Given the description of an element on the screen output the (x, y) to click on. 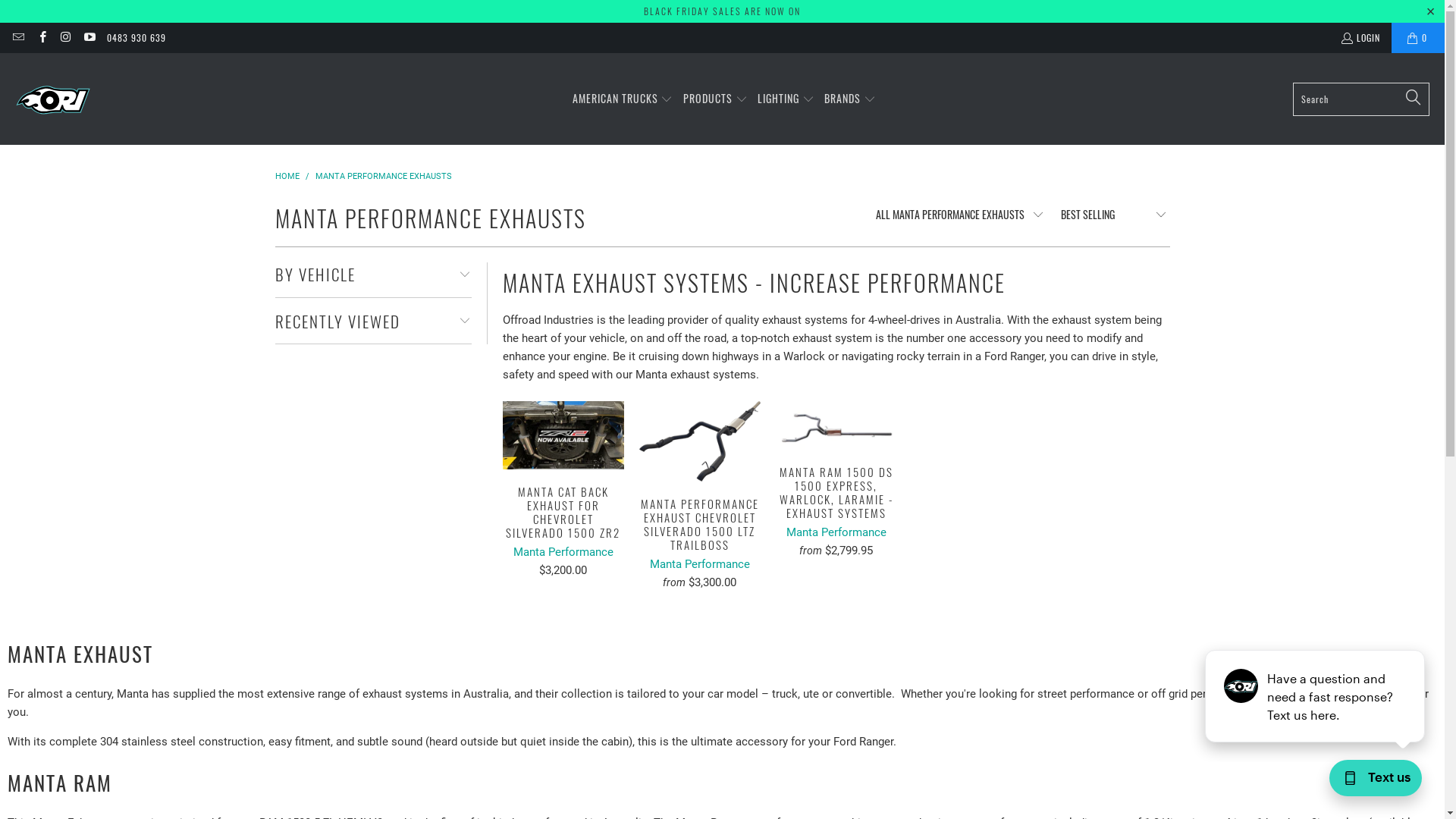
0483 930 639 Element type: text (136, 37)
HOME Element type: text (286, 176)
podium webchat widget prompt Element type: hover (1315, 696)
0 Element type: text (1417, 37)
MANTA PERFORMANCE EXHAUSTS Element type: text (383, 176)
Offroad Industries on YouTube Element type: hover (88, 37)
Offroad Industries on Instagram Element type: hover (65, 37)
Offroad Industries on Facebook Element type: hover (40, 37)
Email Offroad Industries Element type: hover (17, 37)
LOGIN Element type: text (1359, 37)
